Given the description of an element on the screen output the (x, y) to click on. 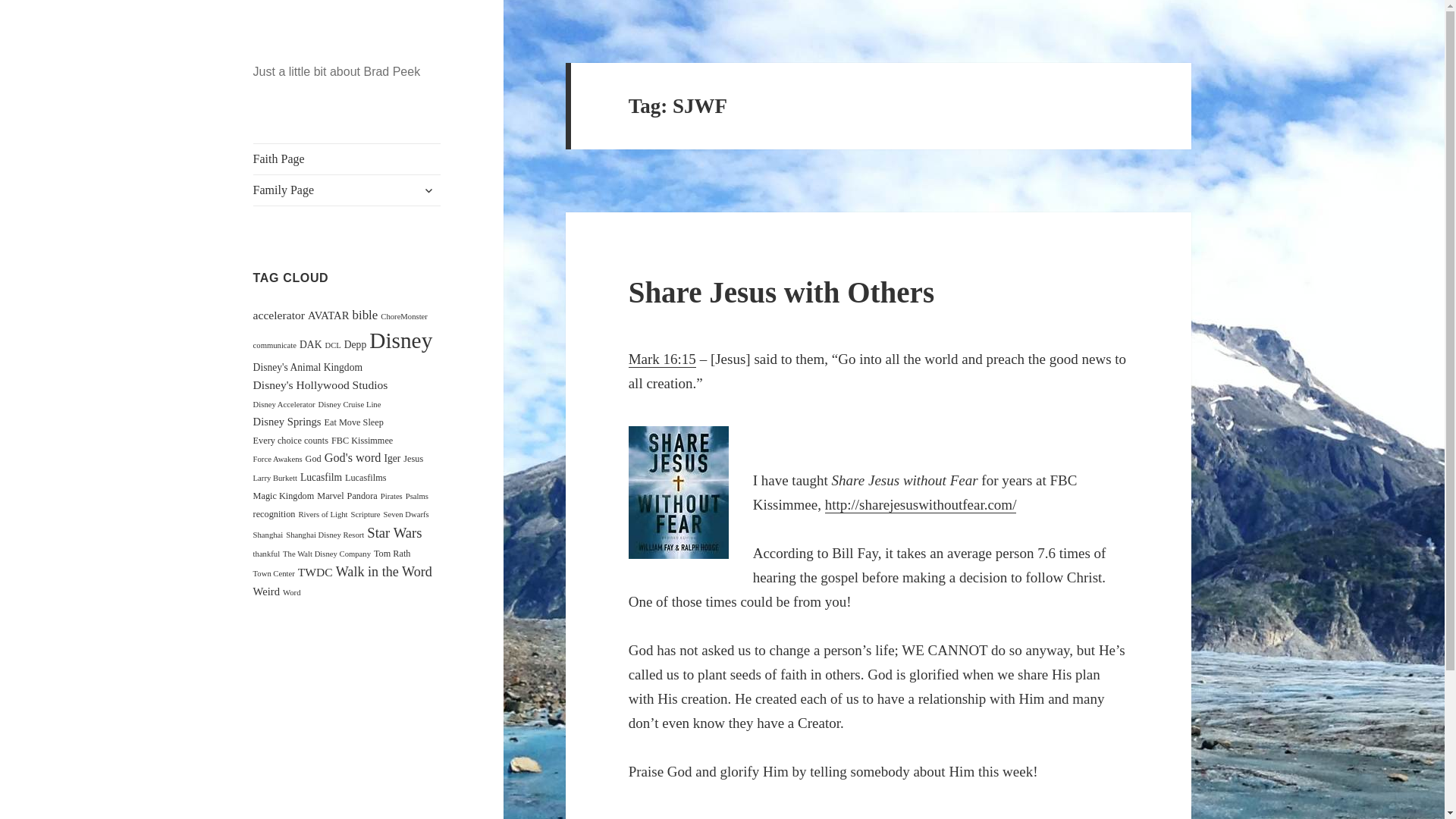
Disney Accelerator (284, 404)
Lucasfilms (365, 477)
AVATAR (328, 315)
Eat Move Sleep (354, 421)
Disney (400, 340)
Lucasfilm (320, 477)
God's word (352, 458)
Pandora (362, 495)
FBC Kissimmee (362, 439)
bible (364, 314)
